Given the description of an element on the screen output the (x, y) to click on. 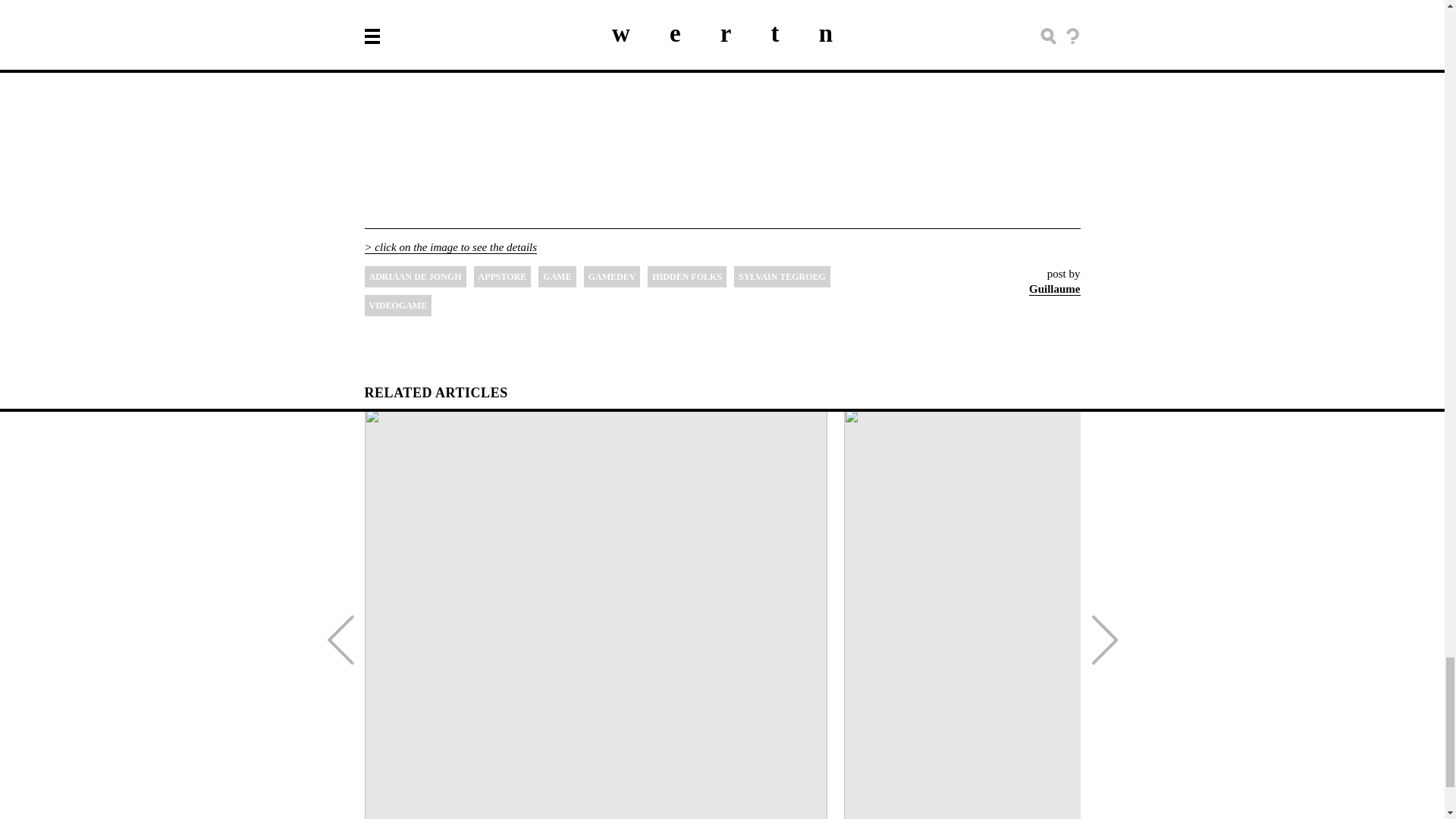
GAMEDEV (611, 276)
HIDDEN FOLKS (686, 276)
GAME (556, 276)
APPSTORE (502, 276)
VIDEOGAME (397, 305)
SYLVAIN TEGROEG (781, 276)
ADRIAAN DE JONGH (414, 276)
Guillaume (1054, 288)
